Given the description of an element on the screen output the (x, y) to click on. 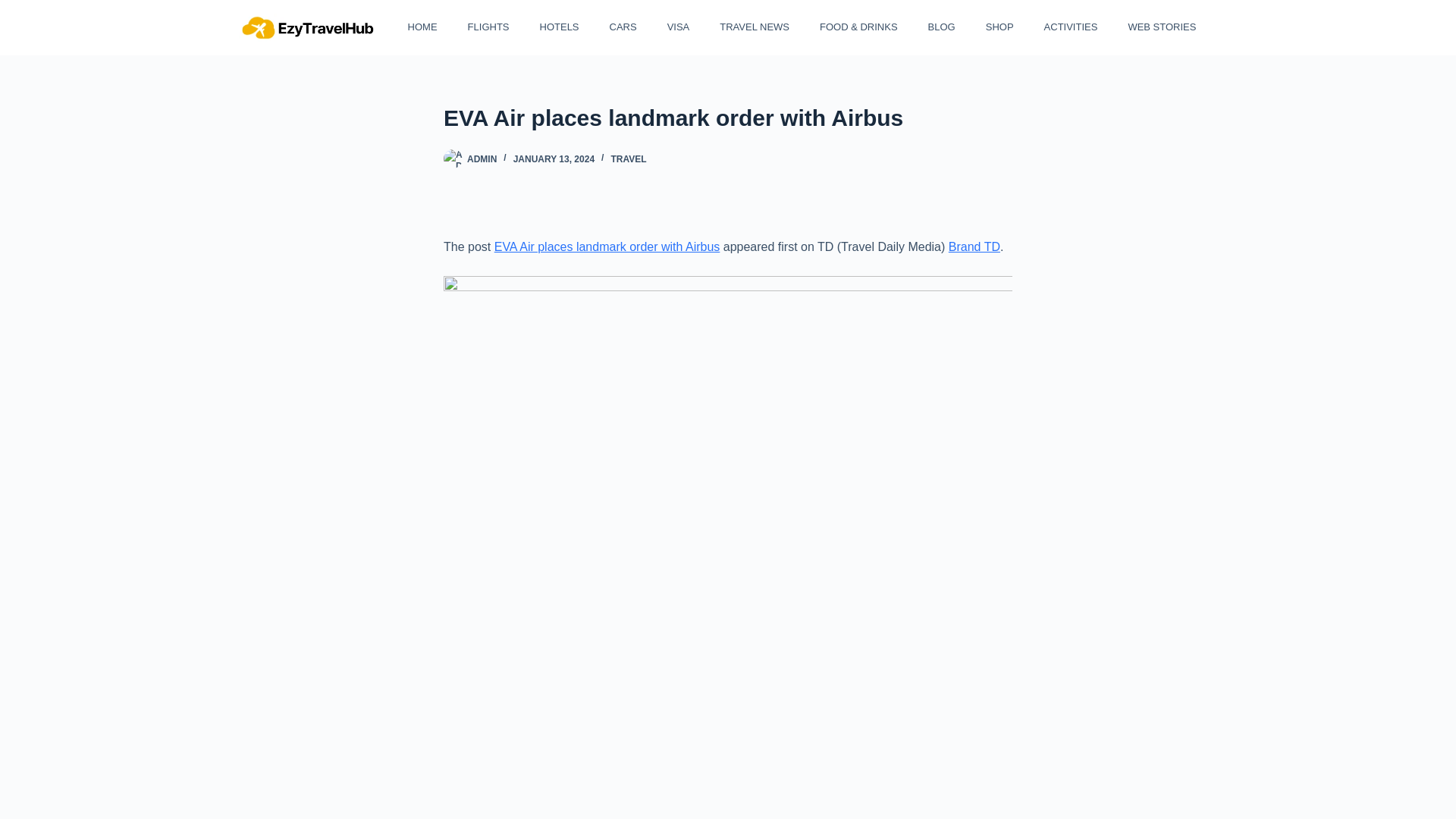
SHOP (997, 27)
Posts by admin (481, 158)
TRAVEL NEWS (753, 27)
ADMIN (481, 158)
VISA (676, 27)
CARS (620, 27)
TRAVEL (628, 158)
WEB STORIES (1159, 27)
TRAVEL GUIDE (1251, 27)
Skip to content (15, 7)
